Given the description of an element on the screen output the (x, y) to click on. 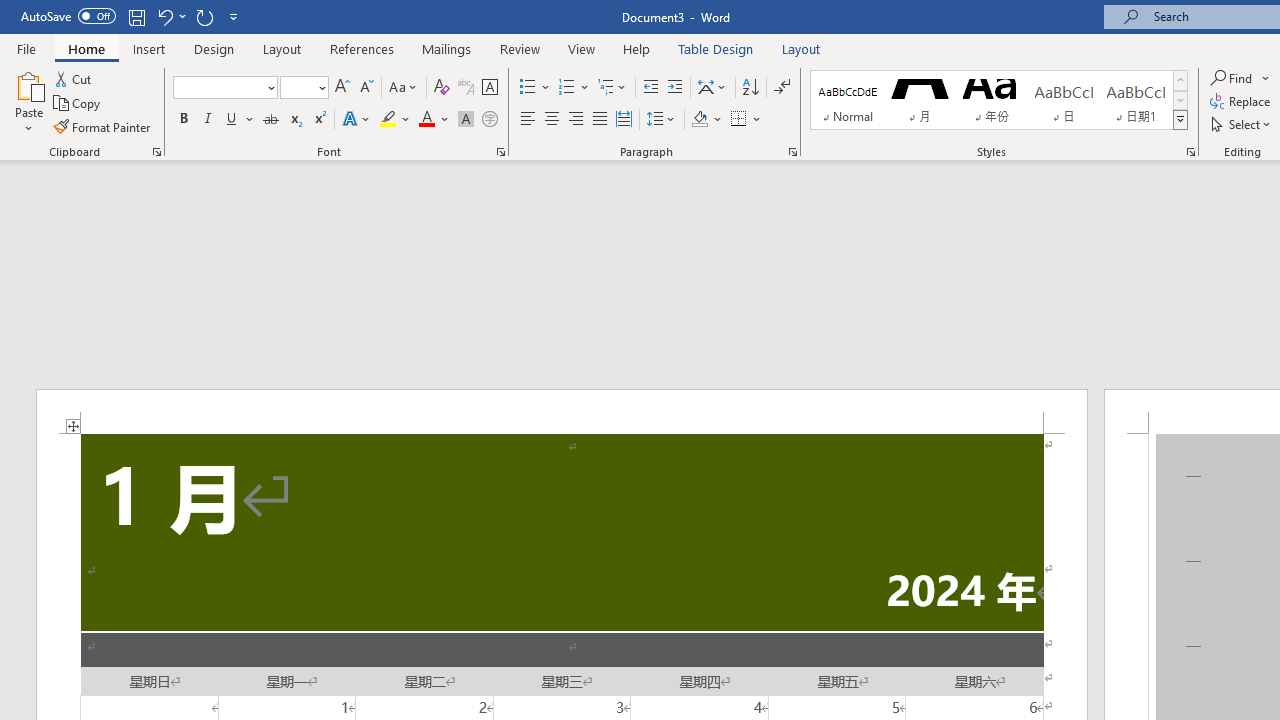
Superscript (319, 119)
Shrink Font (365, 87)
Distributed (623, 119)
Font Color RGB(255, 0, 0) (426, 119)
Center (552, 119)
